Given the description of an element on the screen output the (x, y) to click on. 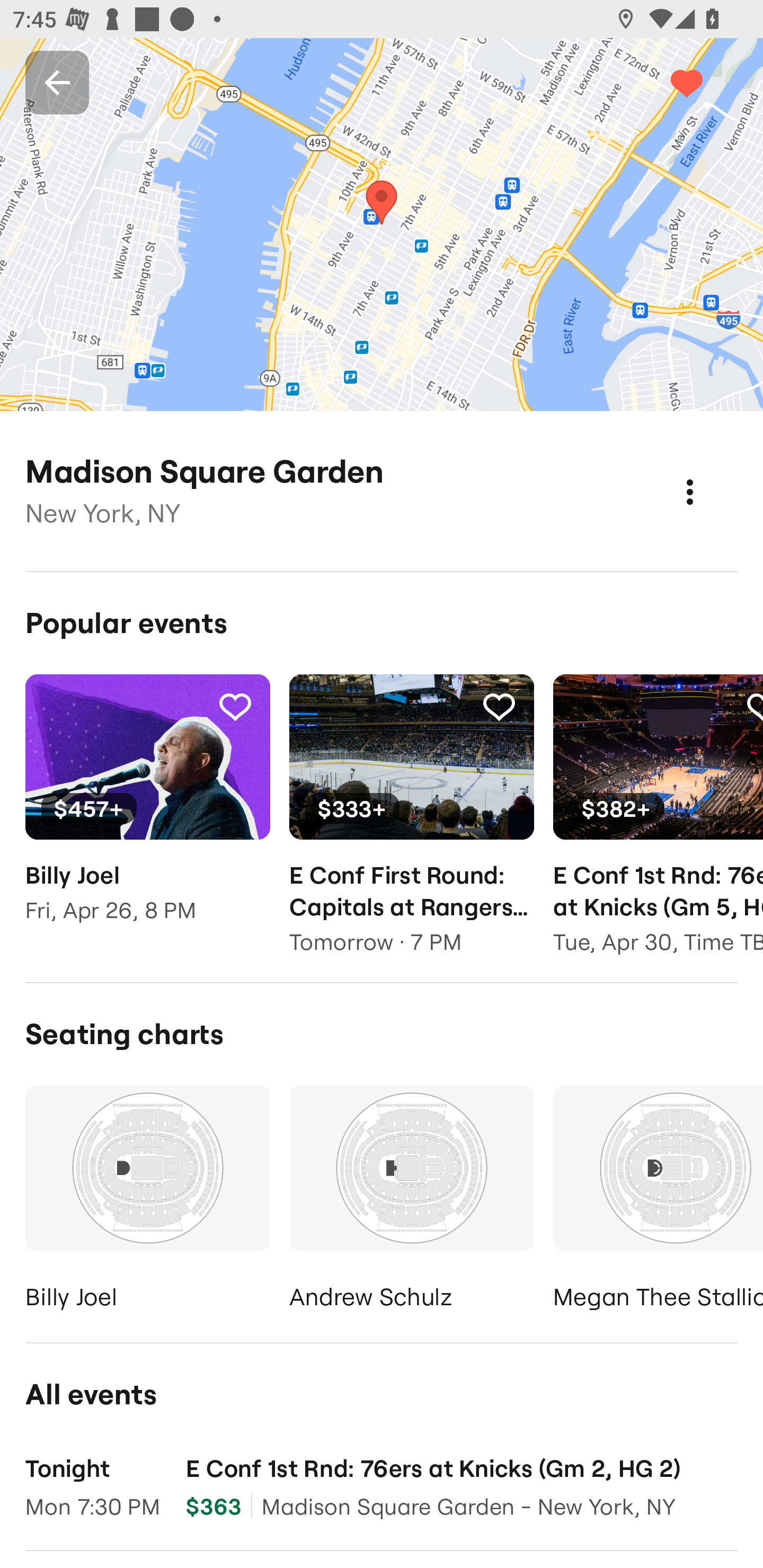
Back (57, 81)
Tracking (705, 81)
See more options (708, 472)
Tracking $457+ Billy Joel Fri, Apr 26, 8 PM (147, 811)
Tracking (234, 705)
Tracking (498, 705)
Billy Joel (147, 1201)
Andrew Schulz (411, 1201)
Megan Thee Stallion with GloRilla (658, 1201)
